Given the description of an element on the screen output the (x, y) to click on. 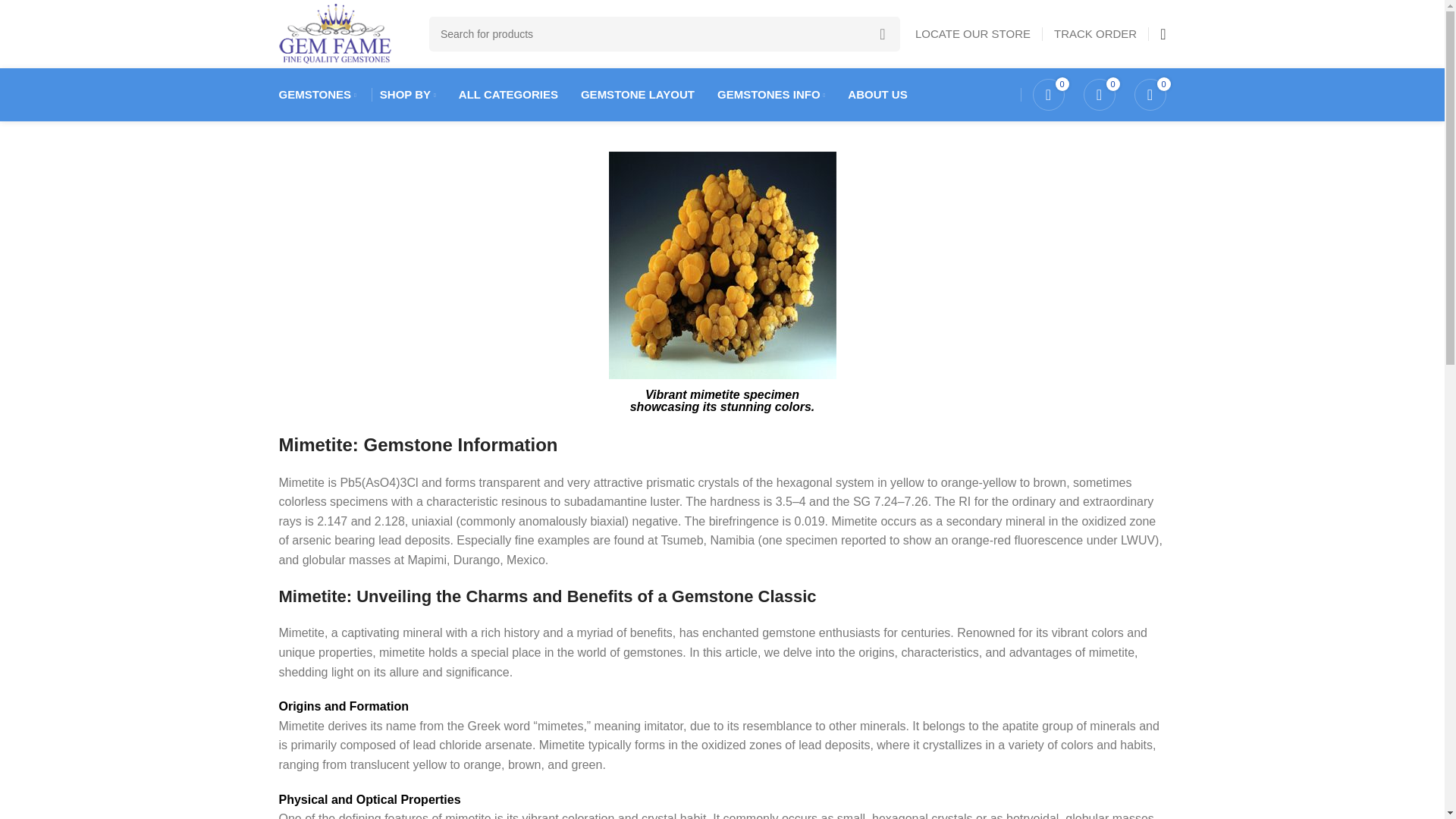
TRACK ORDER (1095, 33)
LOCATE OUR STORE (972, 33)
Shopping cart (1149, 94)
GEMSTONES (317, 94)
Search for products (664, 33)
SEARCH (881, 33)
My Wishlist (1048, 94)
Compare products (1098, 94)
